Given the description of an element on the screen output the (x, y) to click on. 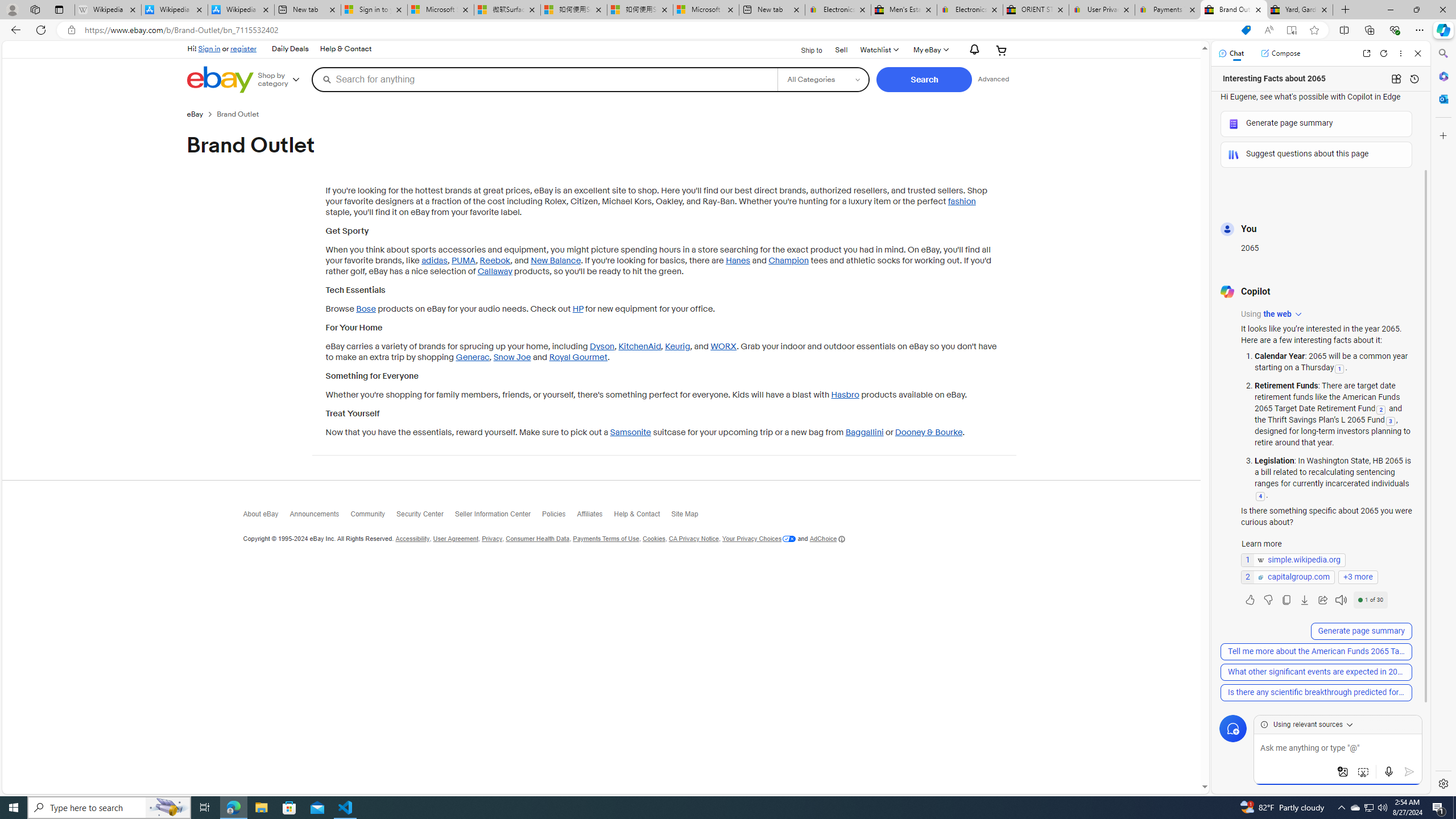
Select a category for search (823, 78)
About eBay (266, 516)
Policies (558, 516)
HP (577, 308)
New Balance (554, 260)
Reebok (495, 260)
Shop by category (282, 79)
Bose (365, 308)
